Given the description of an element on the screen output the (x, y) to click on. 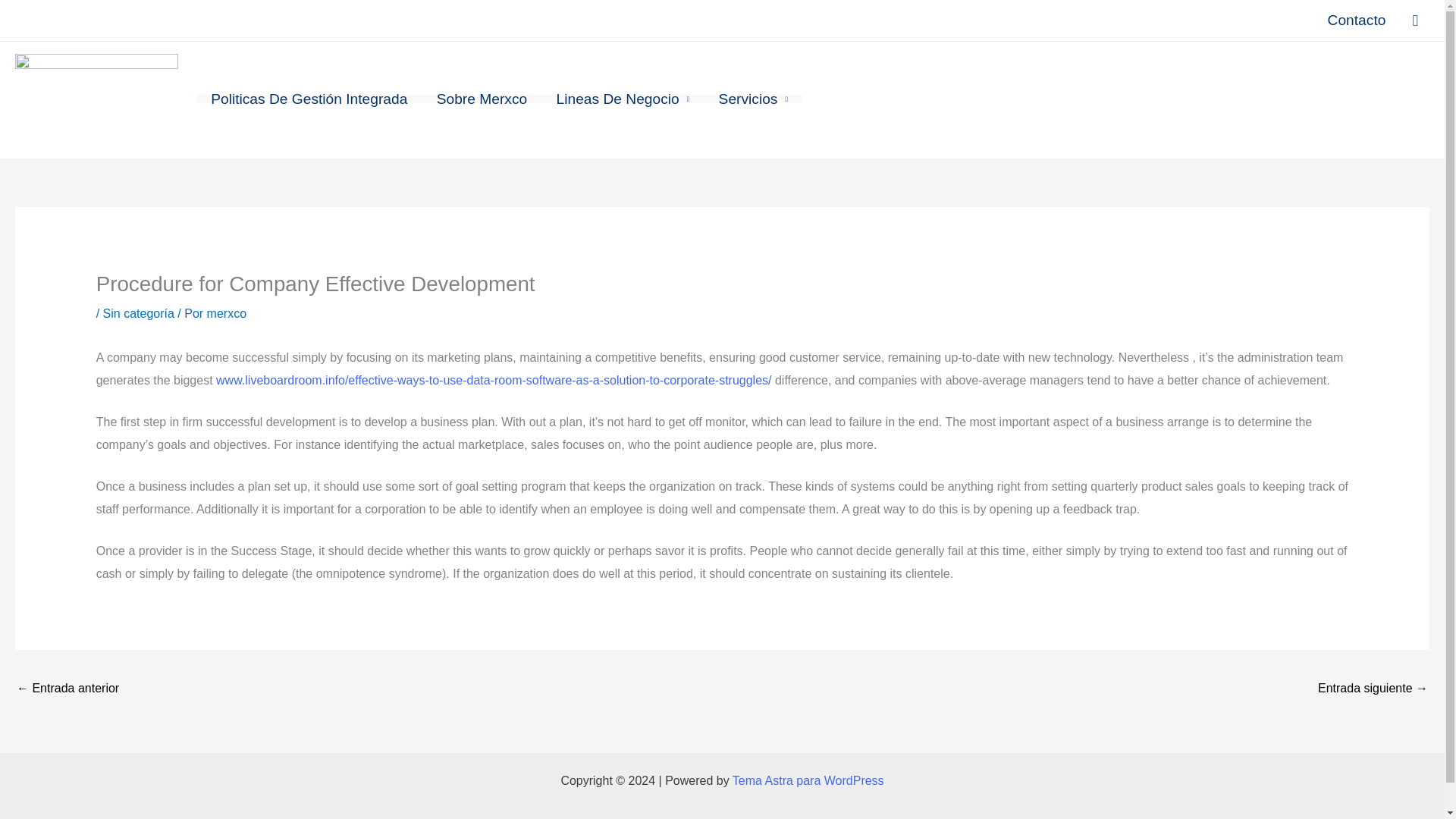
Contacto (1356, 19)
Servicios (752, 99)
Lineas De Negocio (622, 99)
Buscar (1415, 20)
Business Software Ratings (67, 689)
Sobre Merxco (481, 99)
In the event Avast Says I Have A Spy Cookie (1372, 689)
Ver todas las entradas de merxco (226, 313)
